Given the description of an element on the screen output the (x, y) to click on. 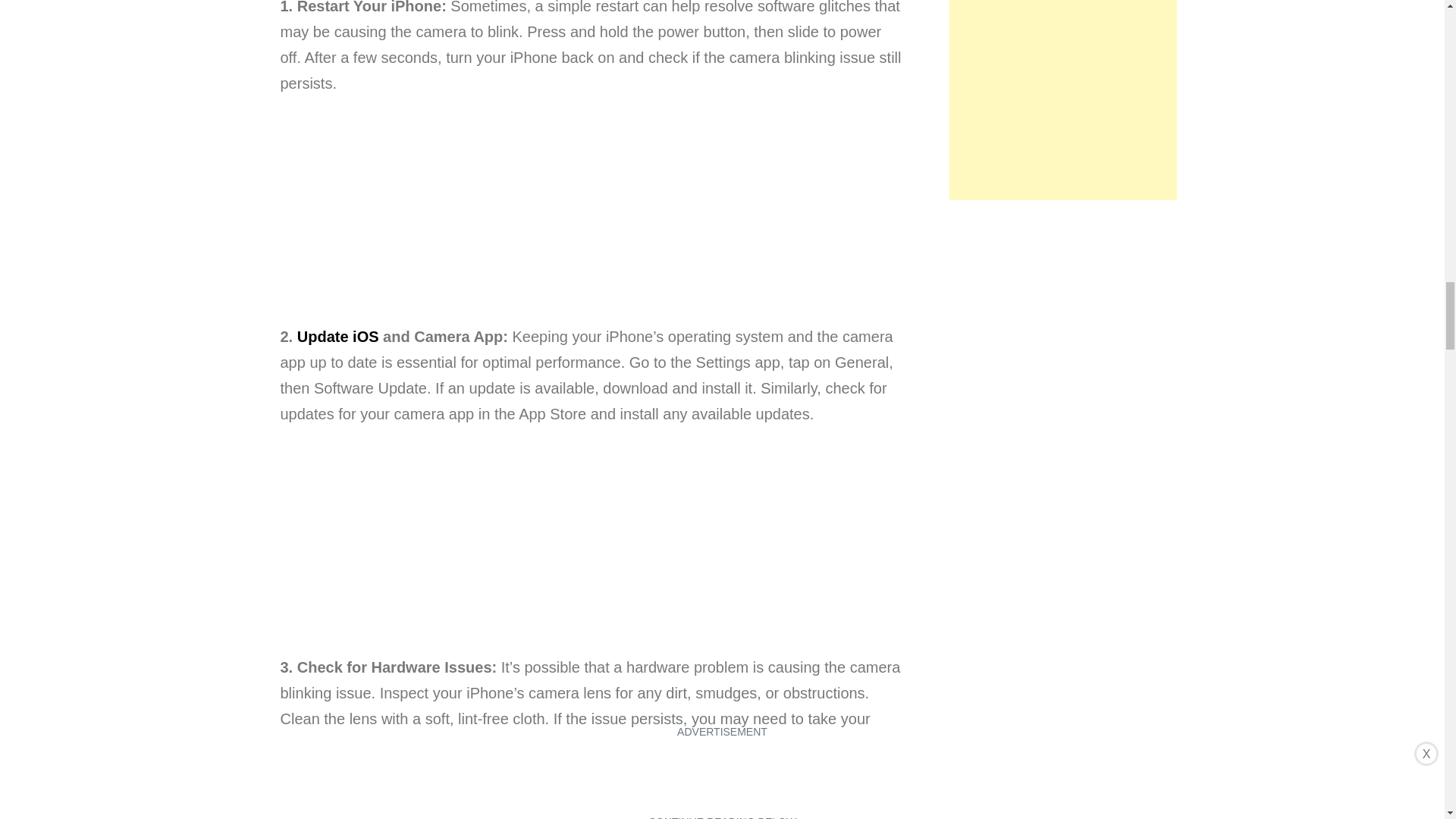
Update iOS (337, 336)
